Given the description of an element on the screen output the (x, y) to click on. 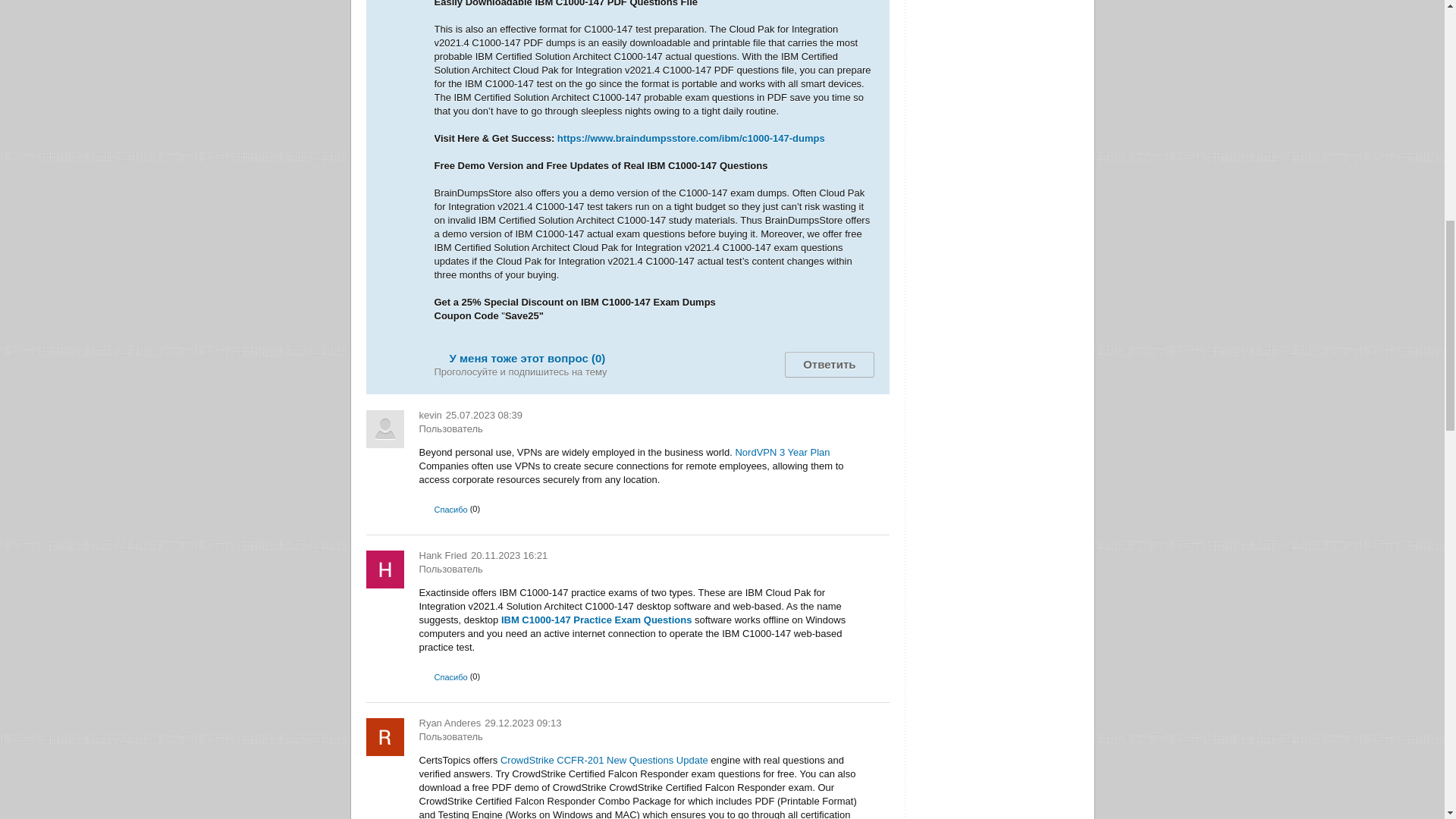
Ryan Anderes (449, 723)
CrowdStrike CCFR-201 New Questions Update (603, 759)
kevin (430, 415)
NordVPN 3 Year Plan (782, 451)
29.12.2023 09:13 (522, 723)
25.07.2023 08:39 (483, 415)
IBM C1000-147 Practice Exam Questions (595, 619)
Hank Fried (443, 555)
20.11.2023 16:21 (508, 555)
